Given the description of an element on the screen output the (x, y) to click on. 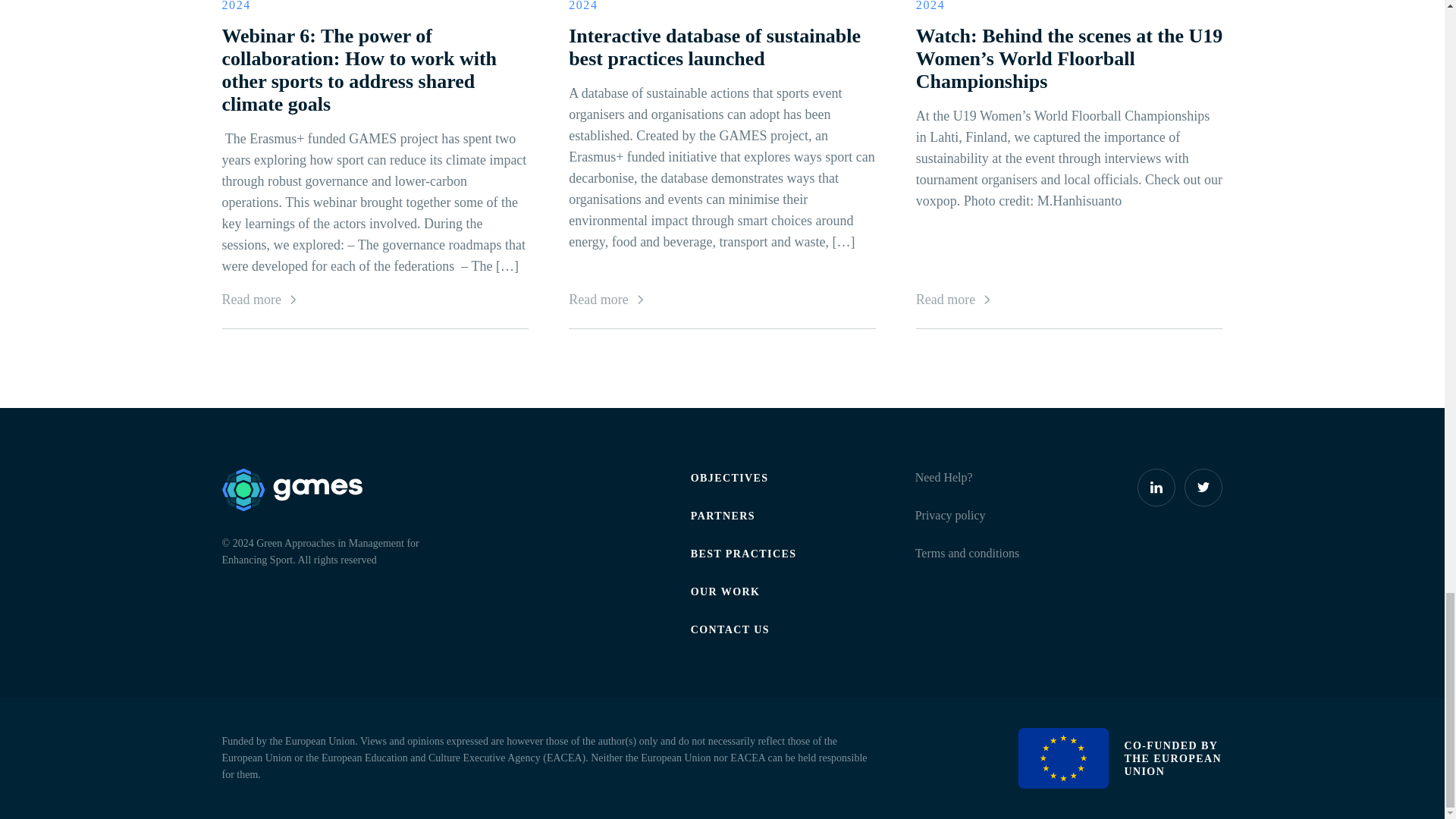
OBJECTIVES (729, 478)
CONTACT US (730, 629)
Read more (1069, 299)
Need Help? (943, 477)
Terms and conditions (967, 553)
Read more (722, 299)
OUR WORK (725, 591)
Read more (374, 299)
Privacy policy (950, 514)
PARTNERS (722, 515)
BEST PRACTICES (743, 553)
